Given the description of an element on the screen output the (x, y) to click on. 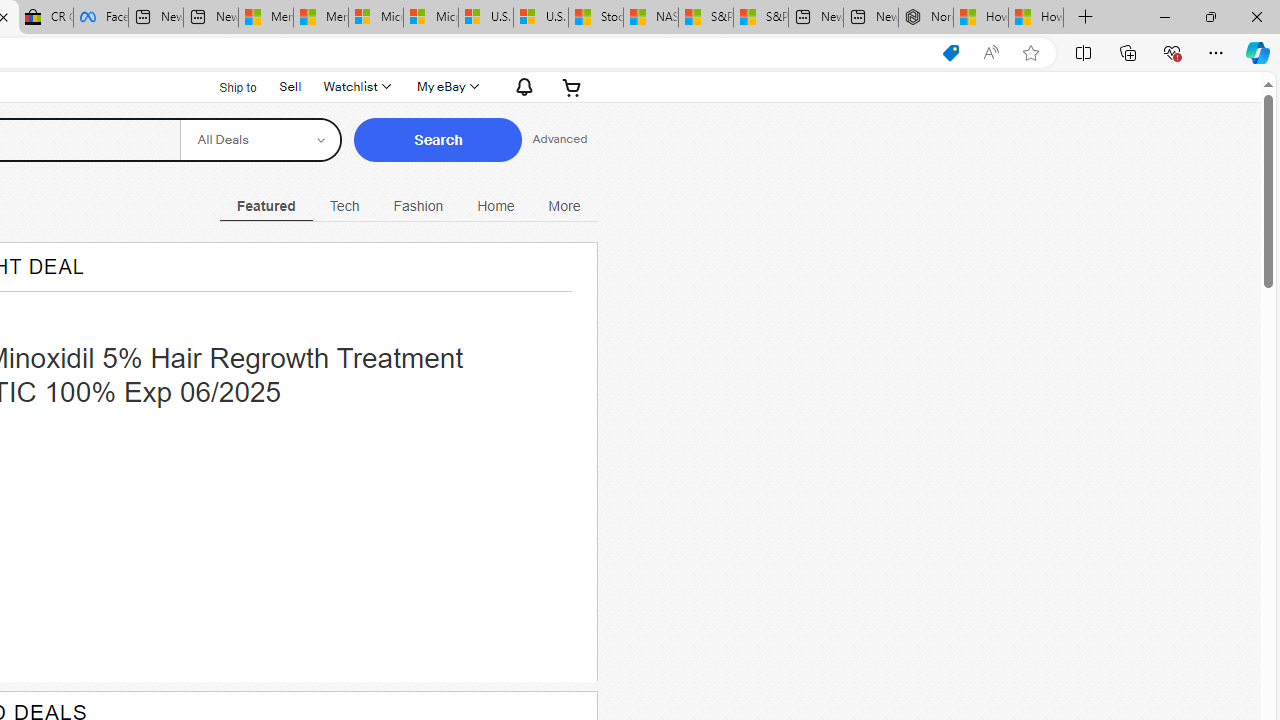
My eBayExpand My eBay (445, 86)
Facebook (100, 17)
Sell (290, 86)
Notifications (519, 86)
AutomationID: gh-eb-Alerts (521, 86)
Read aloud this page (Ctrl+Shift+U) (991, 53)
Class: navigation-desktop-with-flyout selected open-left (265, 203)
